Given the description of an element on the screen output the (x, y) to click on. 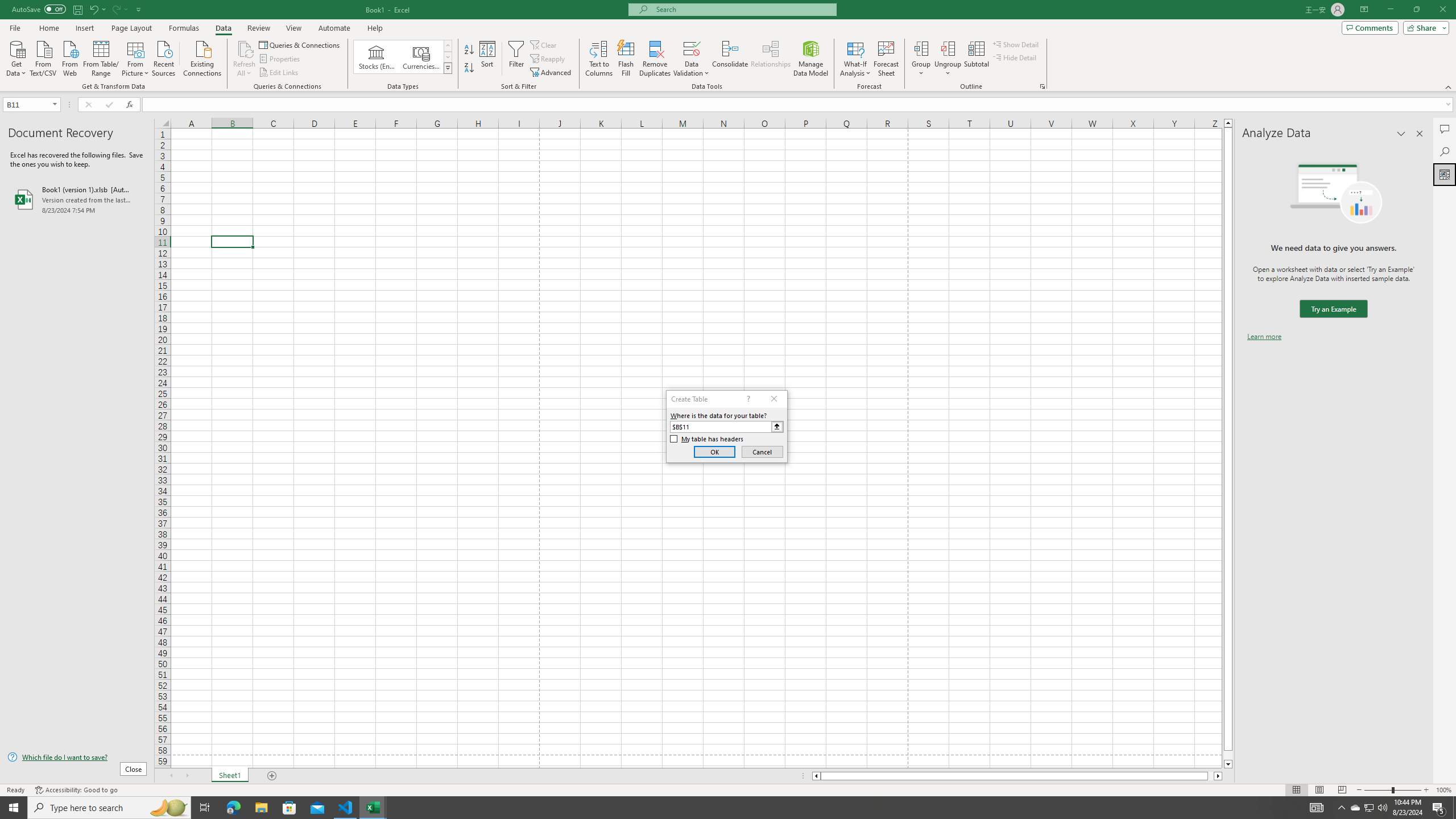
Data (223, 28)
Quick Access Toolbar (77, 9)
Learn more (1264, 336)
Text to Columns... (598, 58)
Group... (921, 58)
Consolidate... (729, 58)
Edit Links (279, 72)
Review (258, 28)
Hide Detail (1014, 56)
Flash Fill (625, 58)
Class: NetUIImage (447, 68)
Scroll Right (187, 775)
Sort... (487, 58)
